Given the description of an element on the screen output the (x, y) to click on. 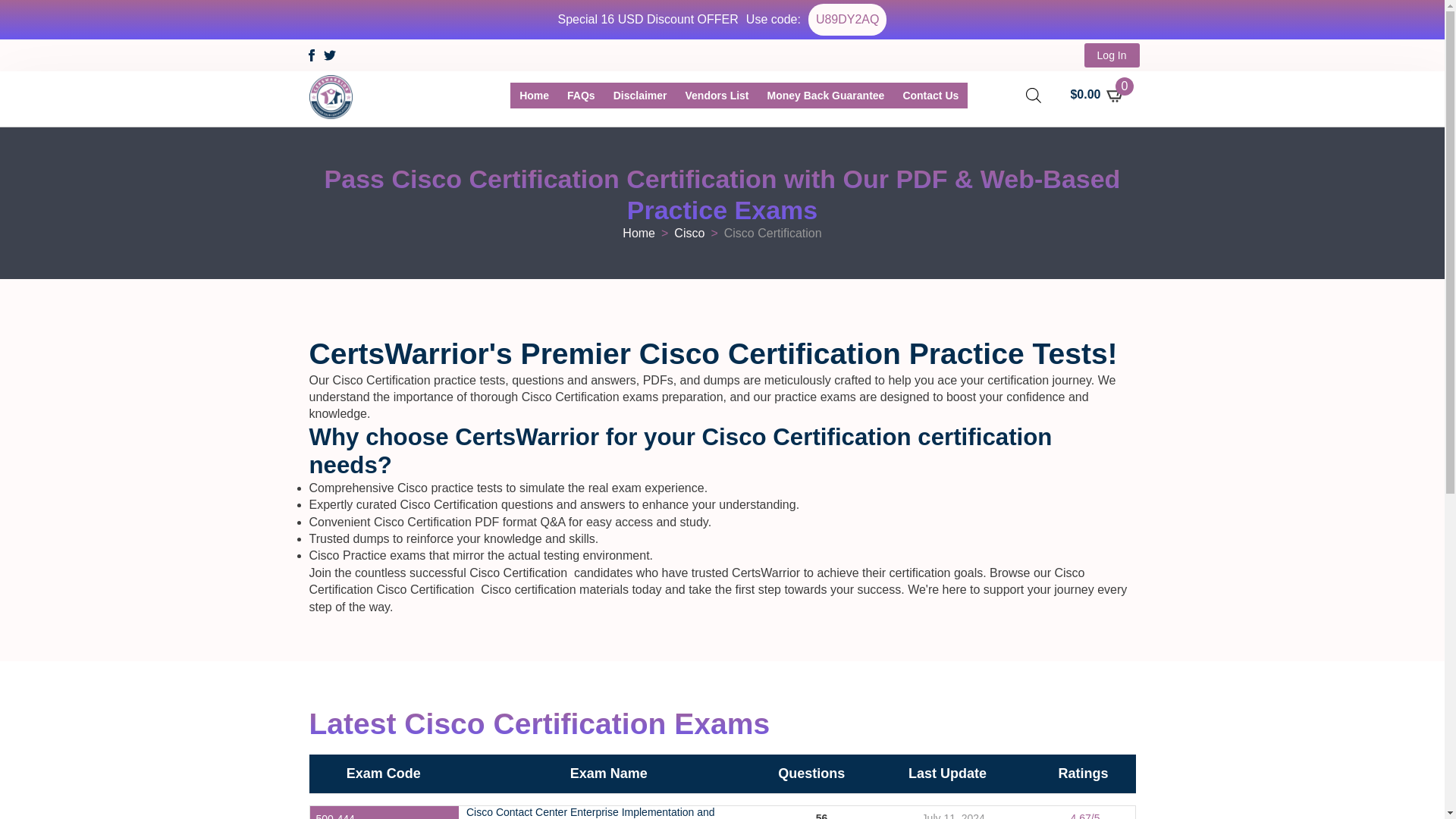
Disclaimer (640, 95)
Exam Code (383, 773)
Log In (1112, 55)
Home (639, 233)
Cisco (689, 233)
Disclaimer (640, 95)
Contact Us (930, 95)
Home (534, 95)
FAQs (580, 95)
500-444 (334, 816)
CertsWarrior (534, 95)
Money Back Guarantee (825, 95)
Contact Us (930, 95)
Refund Policy (825, 95)
